Given the description of an element on the screen output the (x, y) to click on. 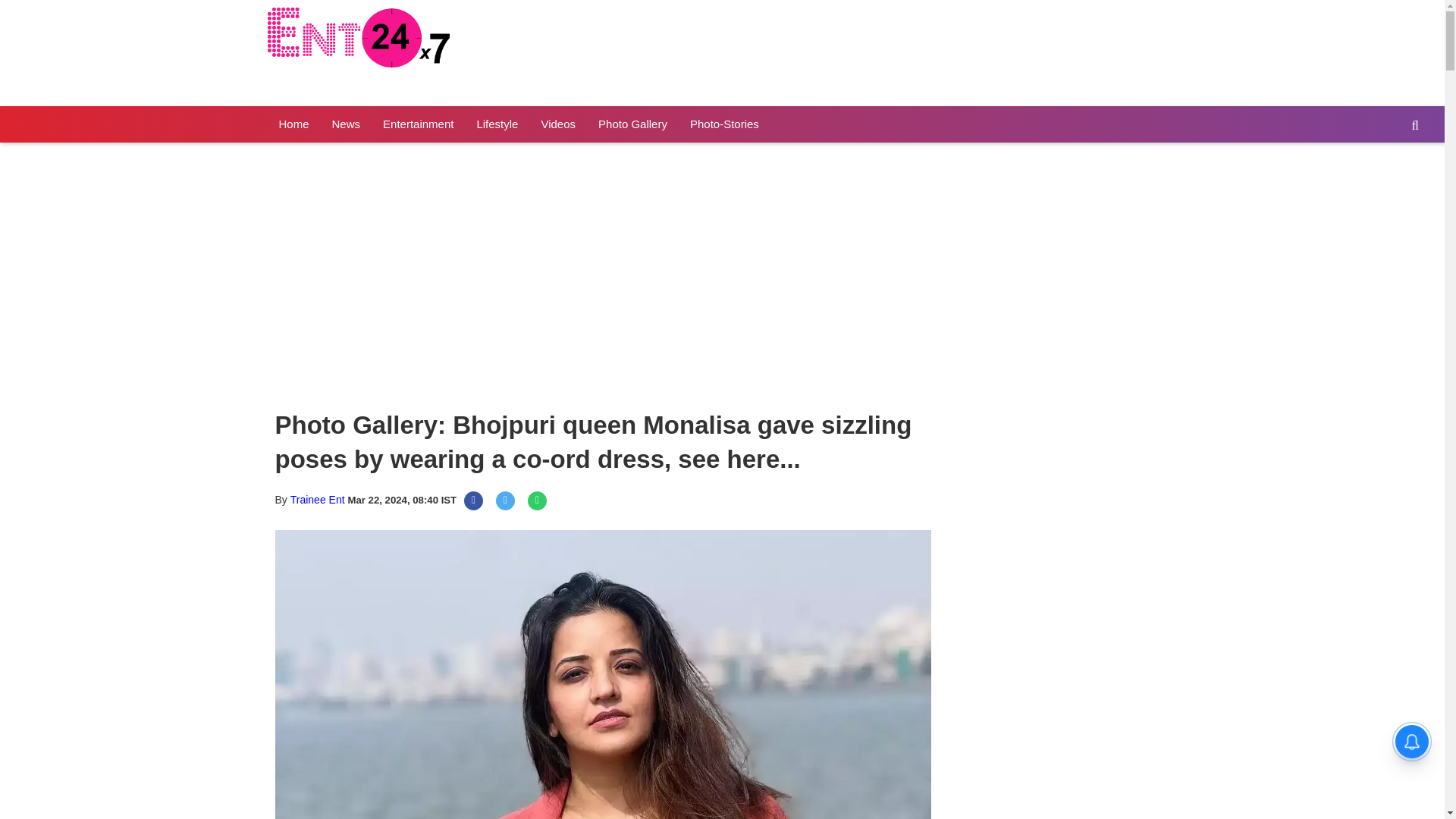
Lifestyle (496, 124)
Videos (557, 124)
Photo Gallery (632, 124)
Photo-Stories (724, 124)
News (346, 124)
Trainee Ent (317, 499)
Entertainment (417, 124)
Home (293, 124)
YouTube video player (478, 277)
